Given the description of an element on the screen output the (x, y) to click on. 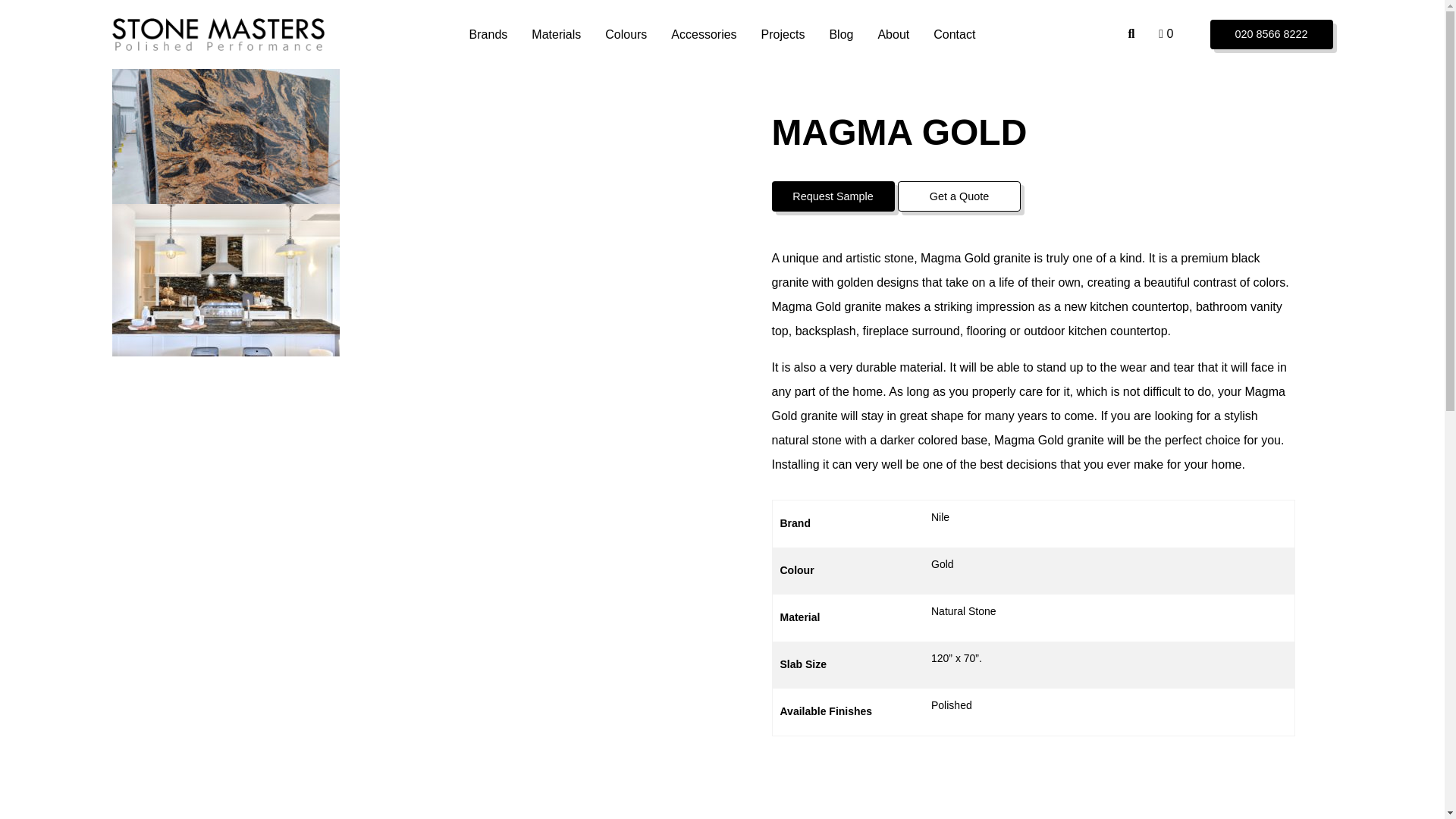
Accessories (703, 33)
Materials (555, 33)
MAGMA GOLD (218, 34)
Colours (625, 33)
Get a Quote (1271, 34)
Get a Quote (959, 196)
Search (1131, 34)
Brands (488, 33)
Basket (1166, 34)
